Given the description of an element on the screen output the (x, y) to click on. 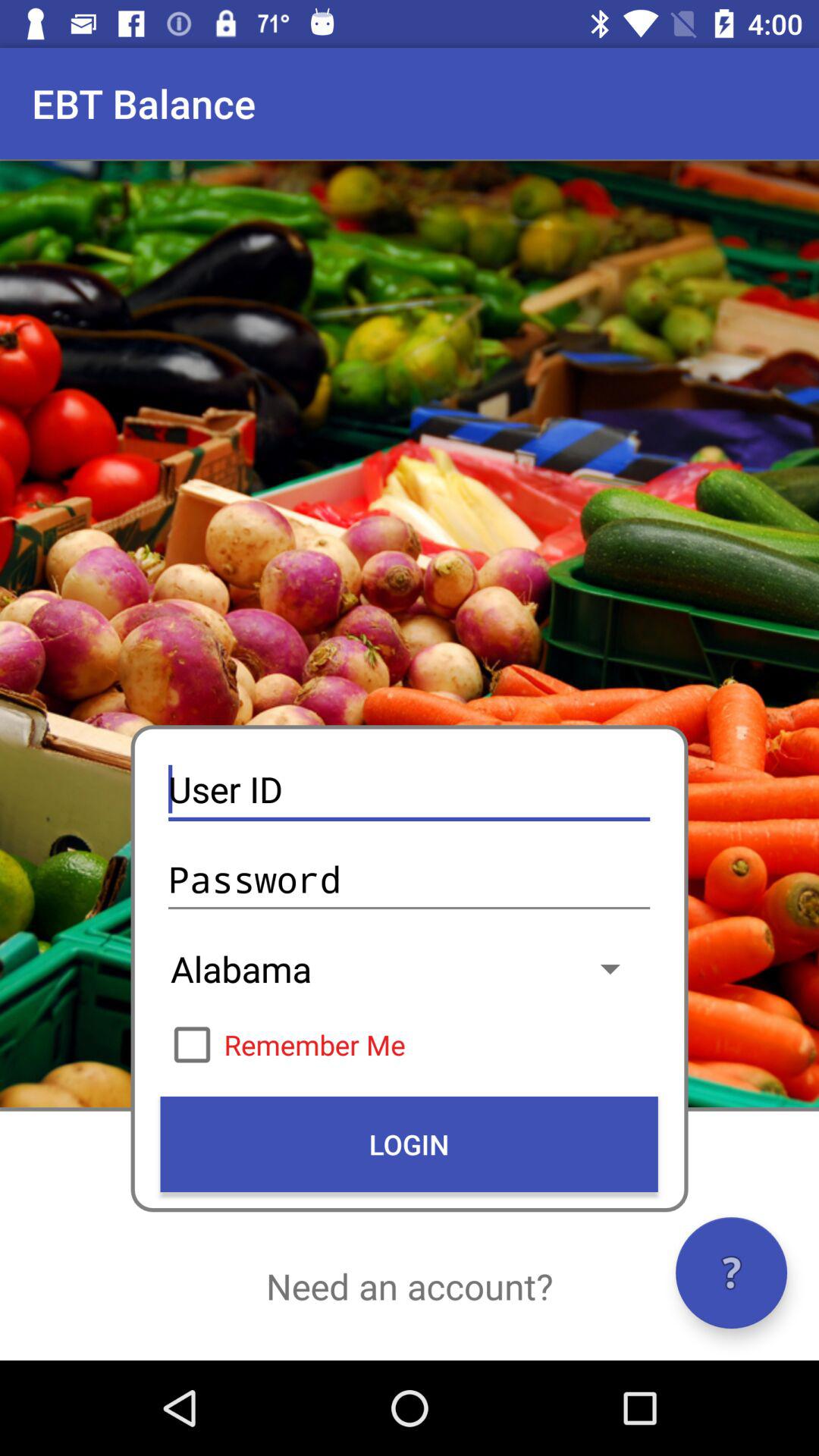
scroll until the login item (409, 1144)
